Given the description of an element on the screen output the (x, y) to click on. 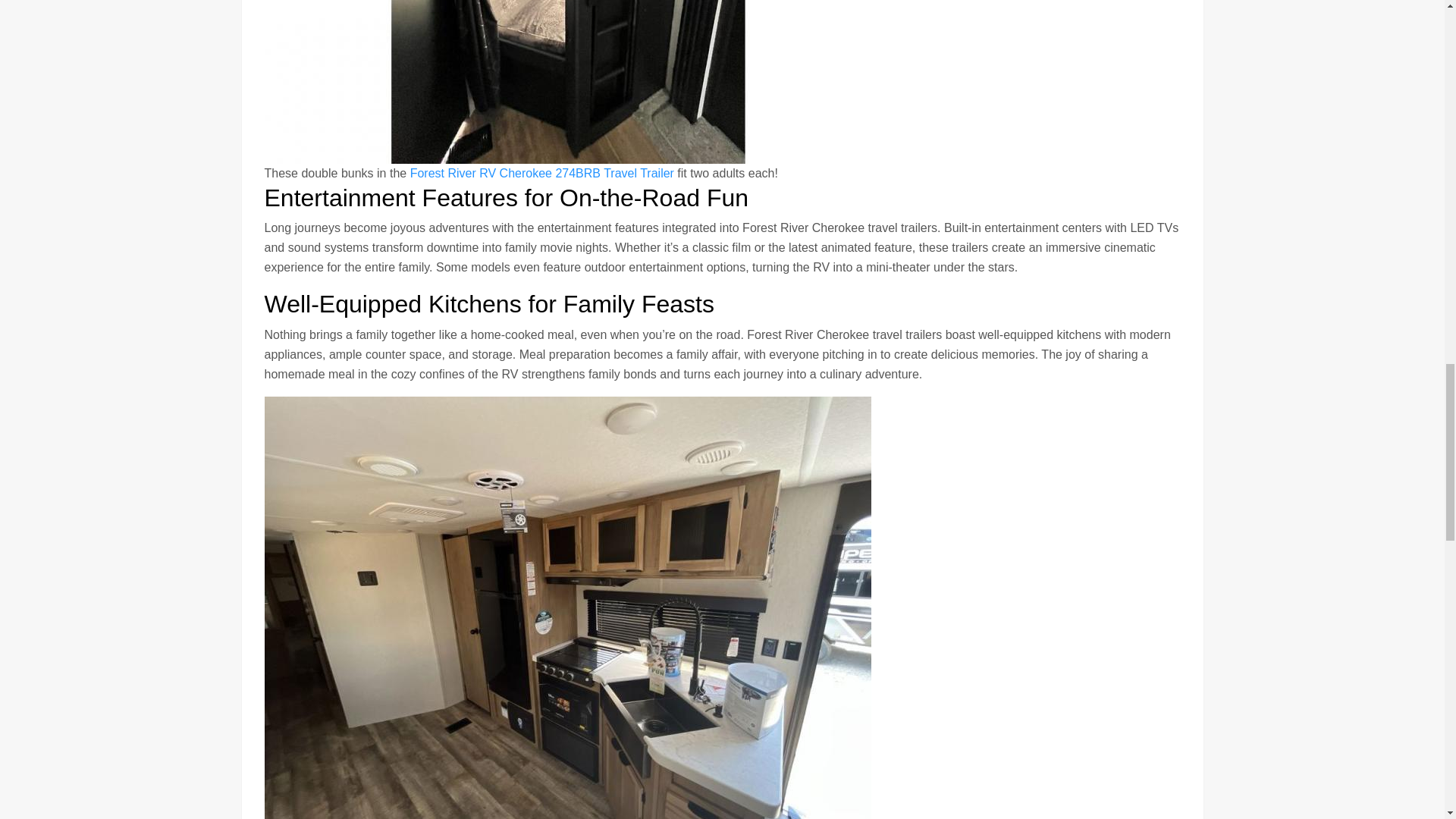
Forest River RV Cherokee 274BRB Travel Trailer (542, 173)
